Given the description of an element on the screen output the (x, y) to click on. 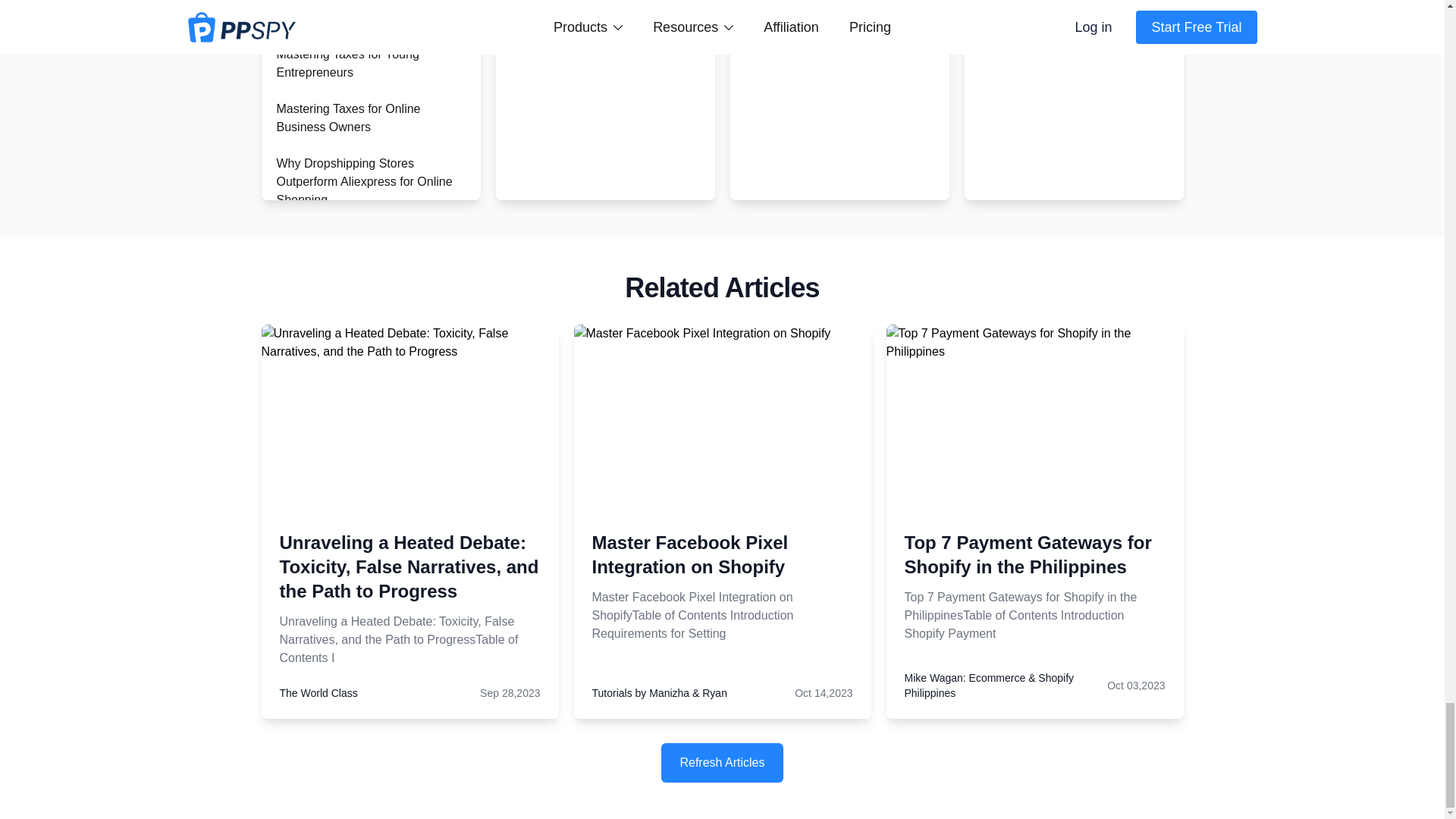
Mastering Taxes for Young Entrepreneurs (347, 62)
Mastering Taxes for Online Business Owners (348, 117)
The Ultimate Guide to Dropshipping with Big Cartel (352, 499)
Mastering Profit Calculations for Your Amazon Business (362, 317)
Boost Your Trading Success with Mechanical Rules (364, 445)
The Hidden Reality of One-Product Stores (370, 12)
The World Class (317, 693)
Master Drop Shipping with Bigcommons (347, 554)
